Given the description of an element on the screen output the (x, y) to click on. 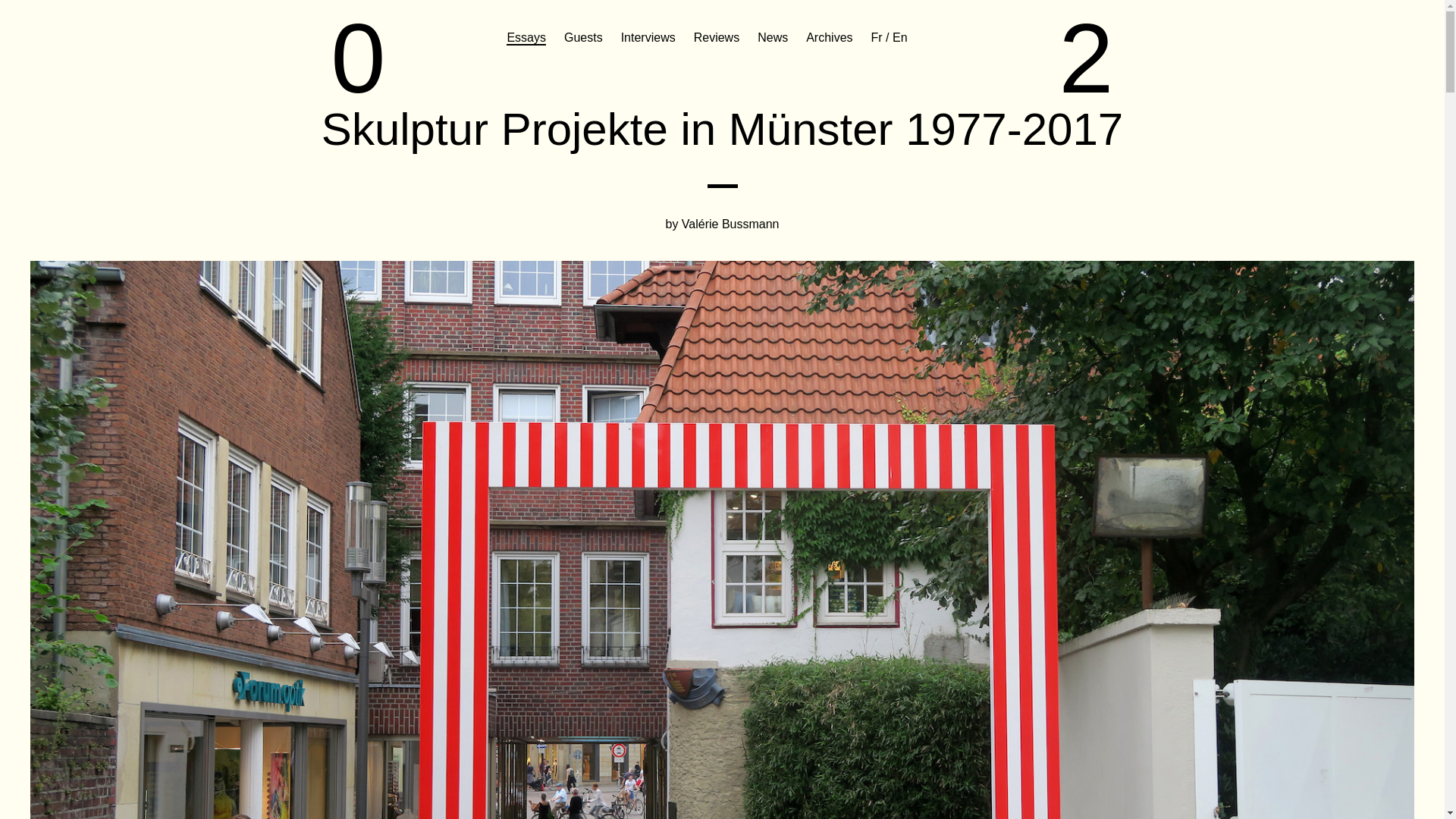
Essays (526, 38)
En (899, 37)
Guests (583, 37)
Interviews (648, 37)
Reviews (716, 37)
News (772, 37)
Archives (828, 37)
